Given the description of an element on the screen output the (x, y) to click on. 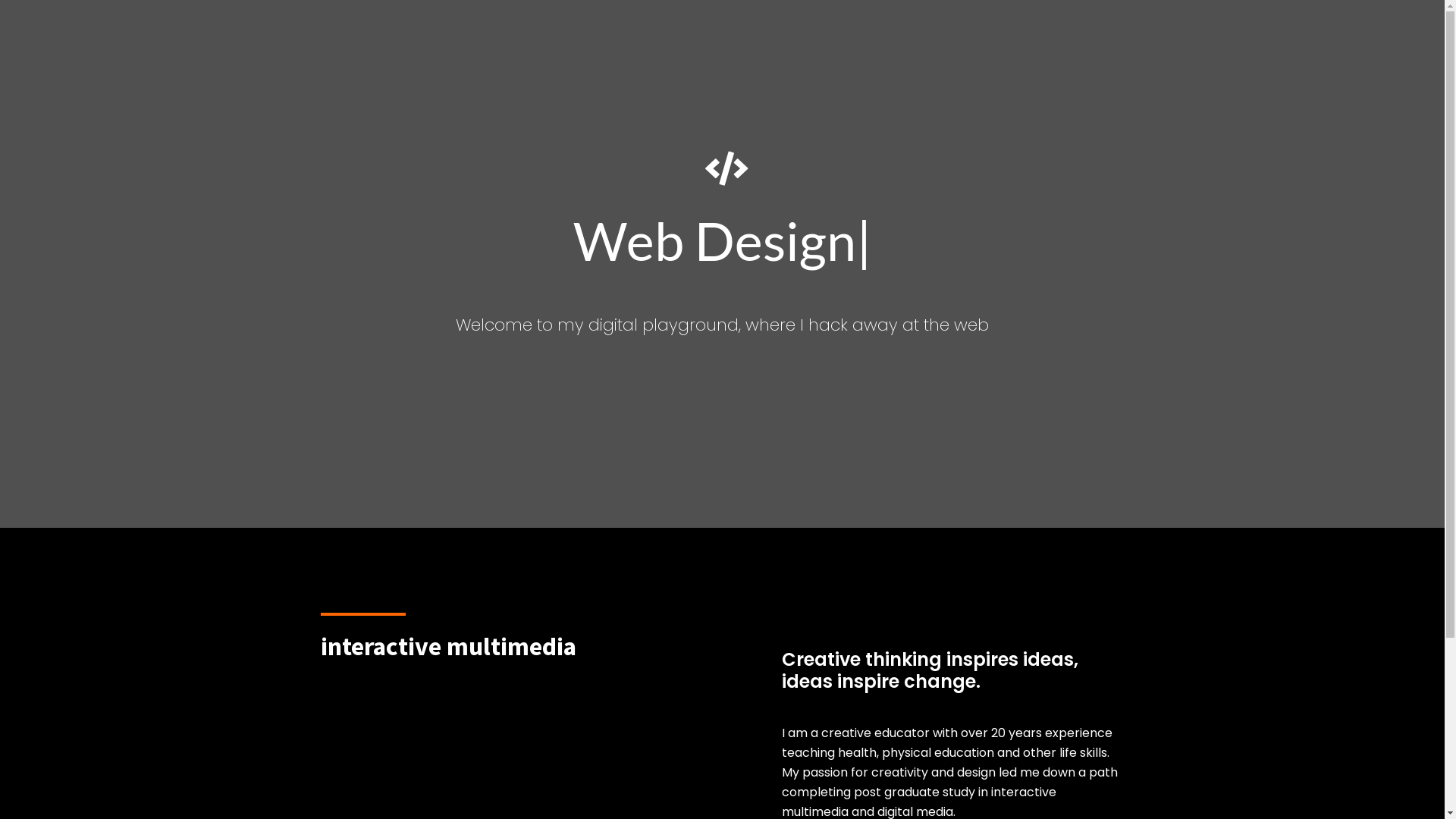
Skip to main content Element type: text (0, 0)
